Given the description of an element on the screen output the (x, y) to click on. 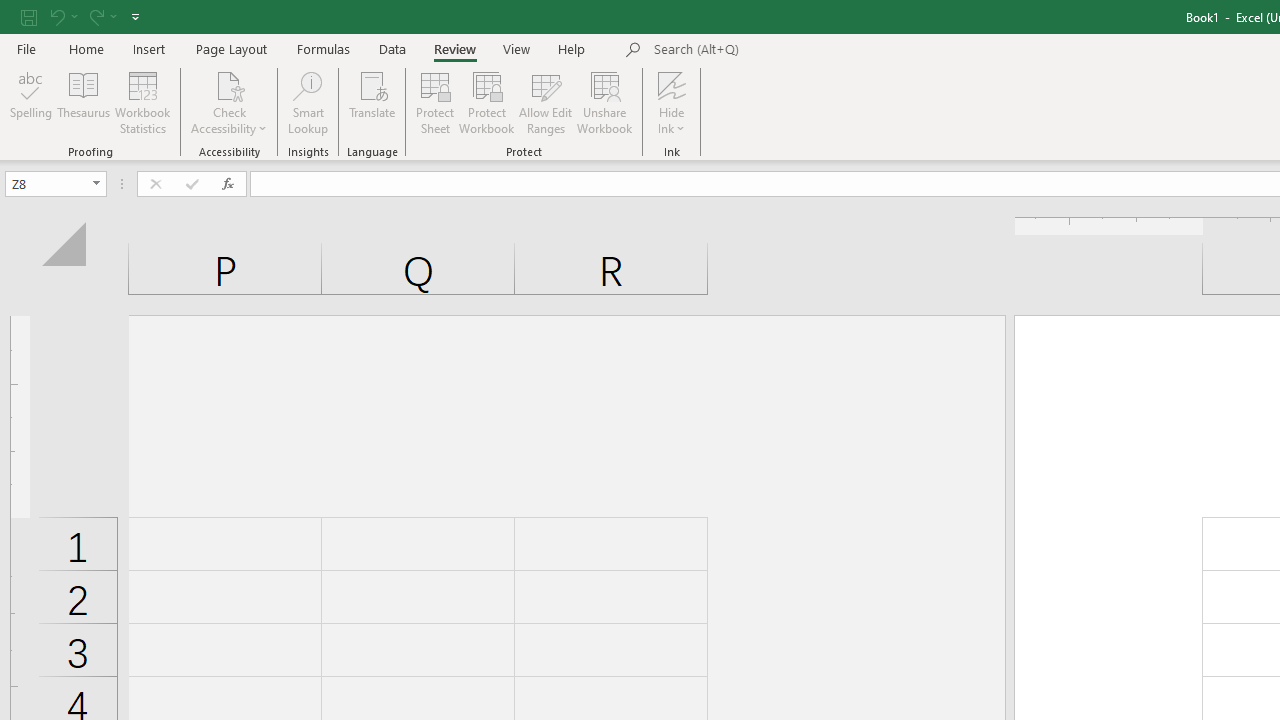
Protect Workbook... (486, 102)
Workbook Statistics (142, 102)
Unshare Workbook (604, 102)
Translate (372, 102)
